Given the description of an element on the screen output the (x, y) to click on. 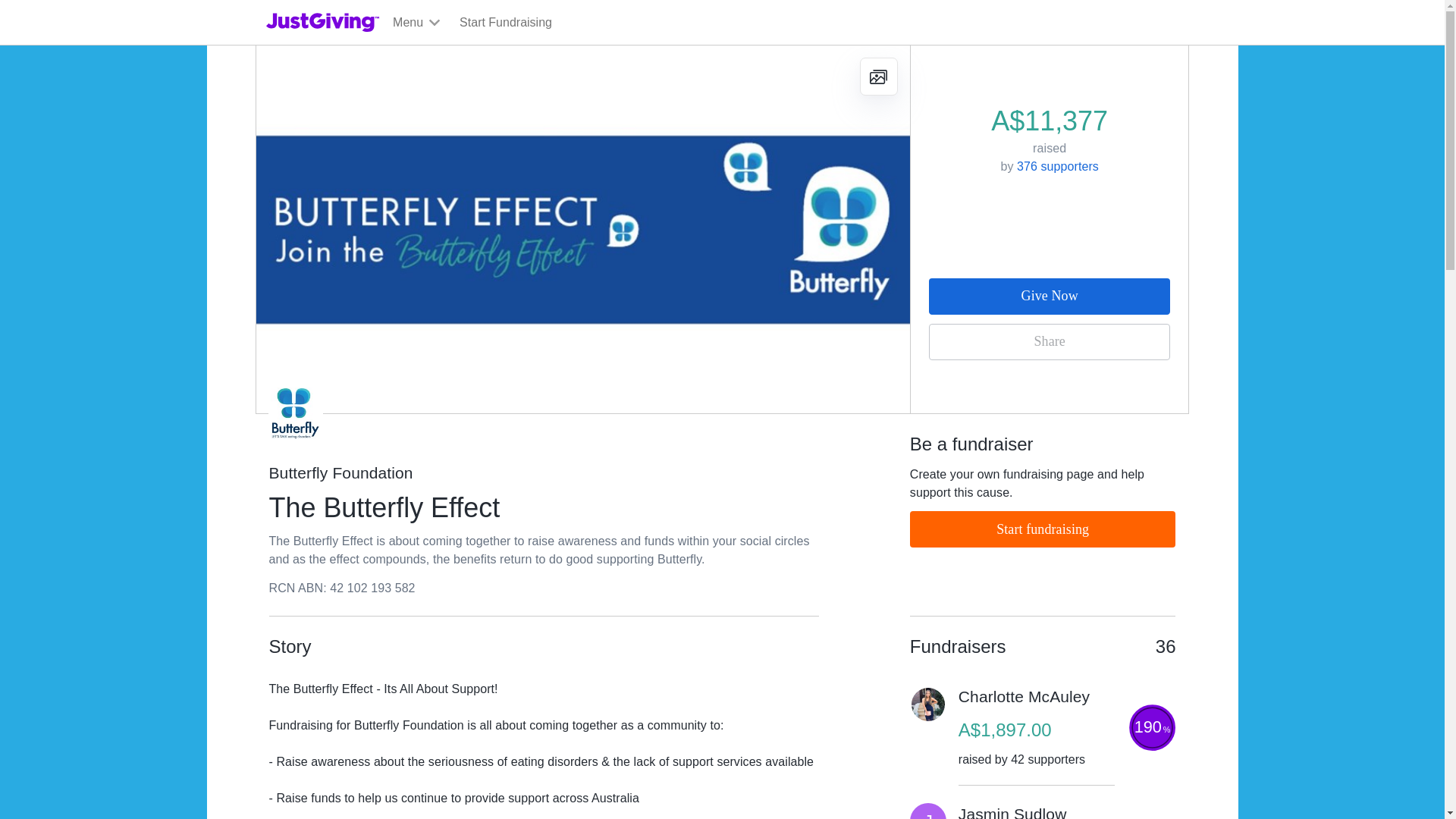
Give Now (1049, 296)
Charlotte McAuley (1023, 696)
Butterfly Foundation (542, 473)
Start fundraising (1043, 529)
Jasmin Sudlow (1012, 811)
Start Fundraising (505, 22)
Menu (416, 22)
Share (1049, 341)
376 supporters (1057, 165)
J (928, 811)
Search (919, 57)
